Given the description of an element on the screen output the (x, y) to click on. 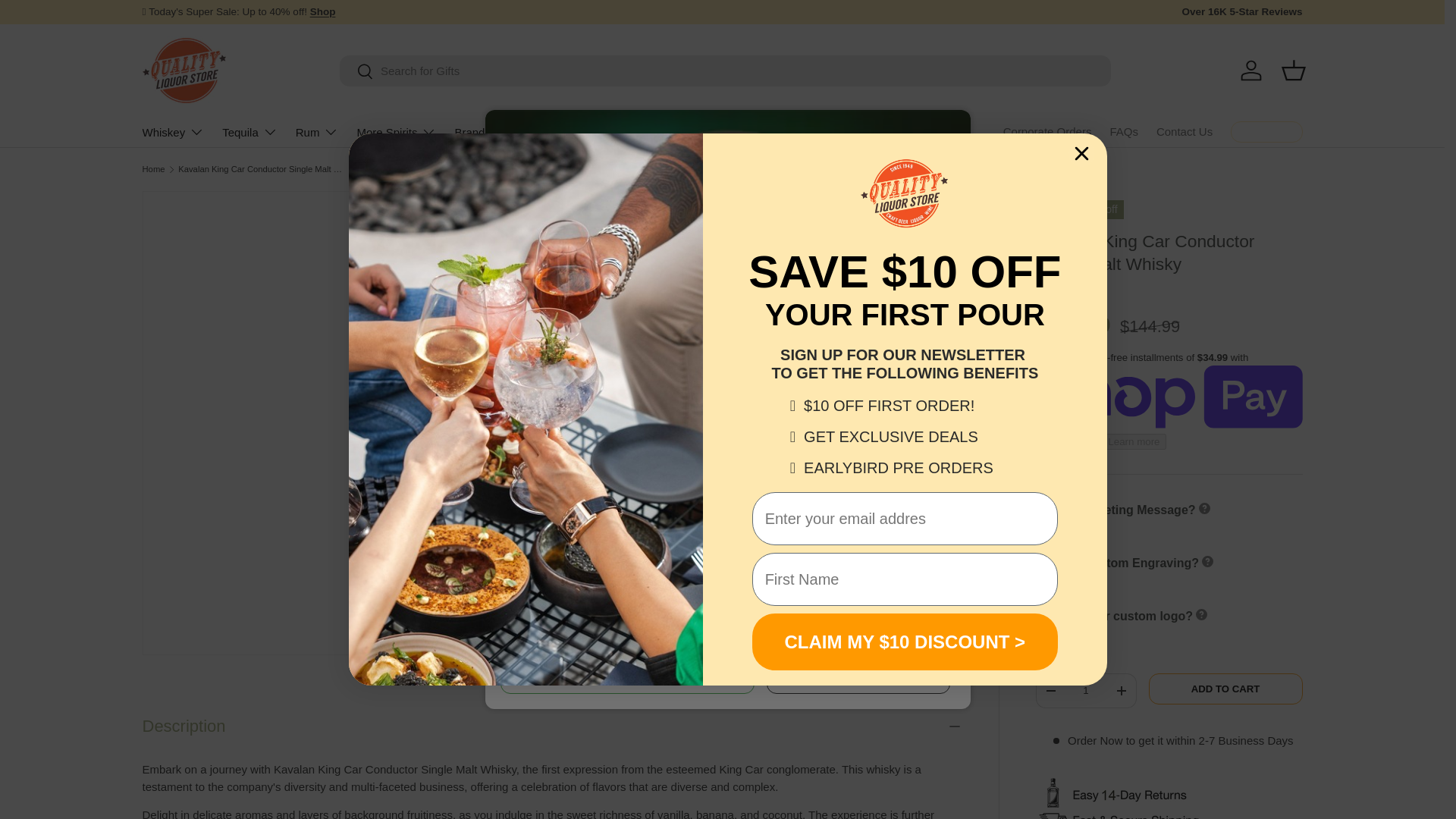
Search (356, 72)
Whiskey (173, 132)
SKIP TO CONTENT (68, 21)
More Spirits (395, 132)
1 (1085, 690)
Rum (317, 132)
SALE (323, 11)
Shop (323, 11)
Tequila (250, 132)
Log in (1251, 70)
Over 16K 5-Star Reviews (1240, 11)
Basket (1293, 70)
